Given the description of an element on the screen output the (x, y) to click on. 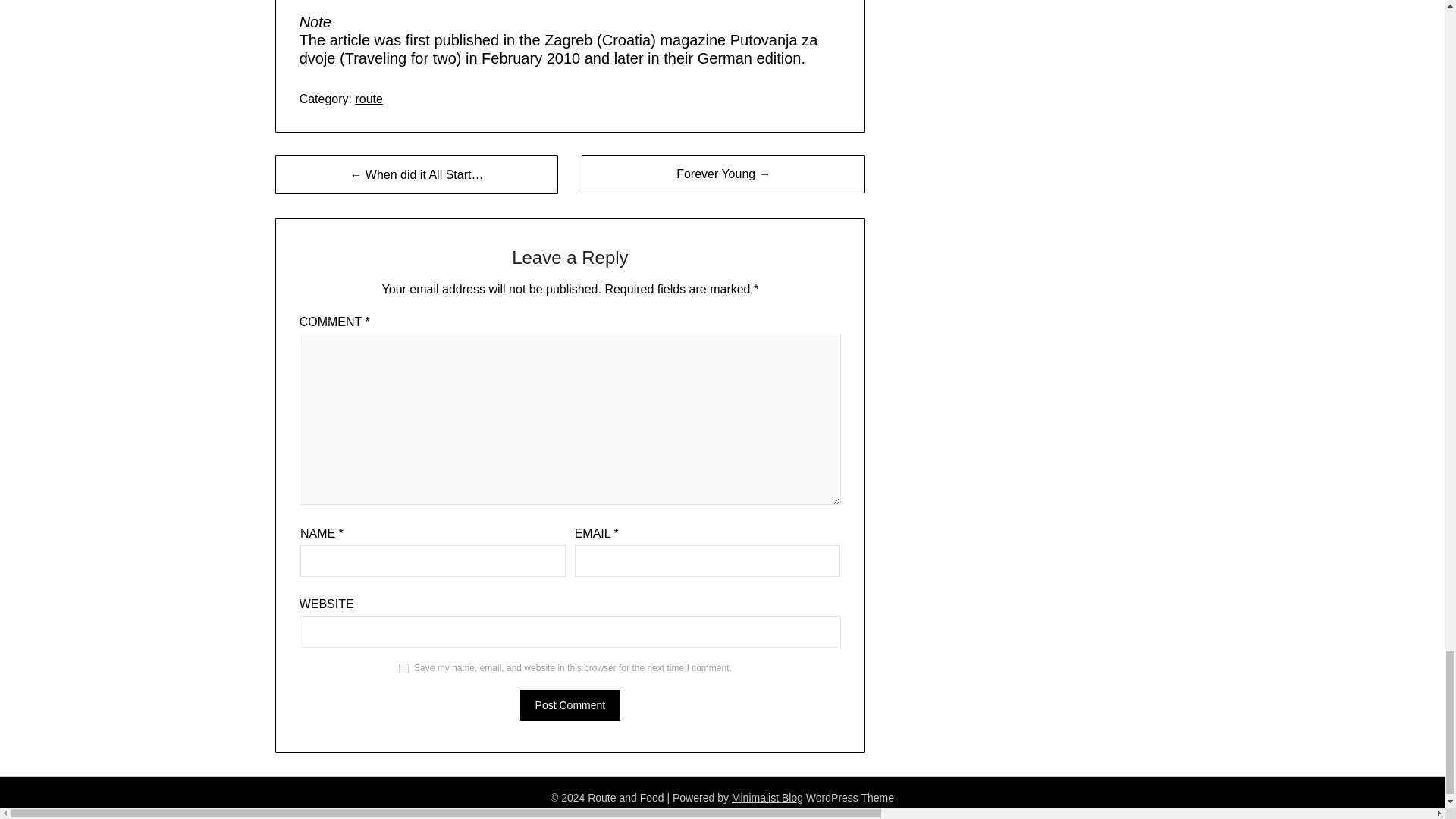
route (368, 98)
yes (403, 668)
Post Comment (570, 705)
Post Comment (570, 705)
